Given the description of an element on the screen output the (x, y) to click on. 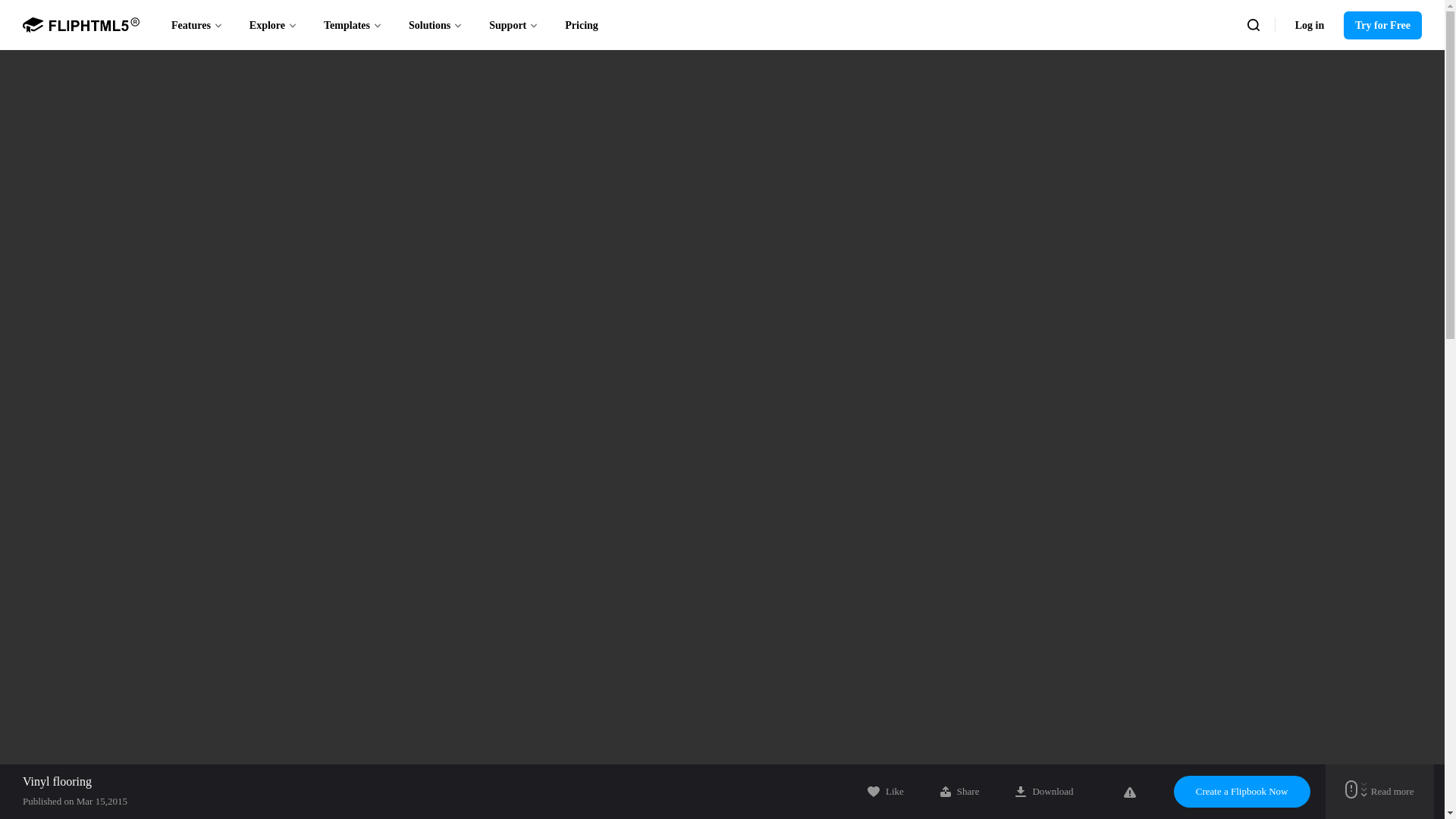
Features (196, 24)
The publisher doesn't allow readers to download this book. (1043, 791)
Explore (272, 24)
Add to My Favorites (885, 791)
